Given the description of an element on the screen output the (x, y) to click on. 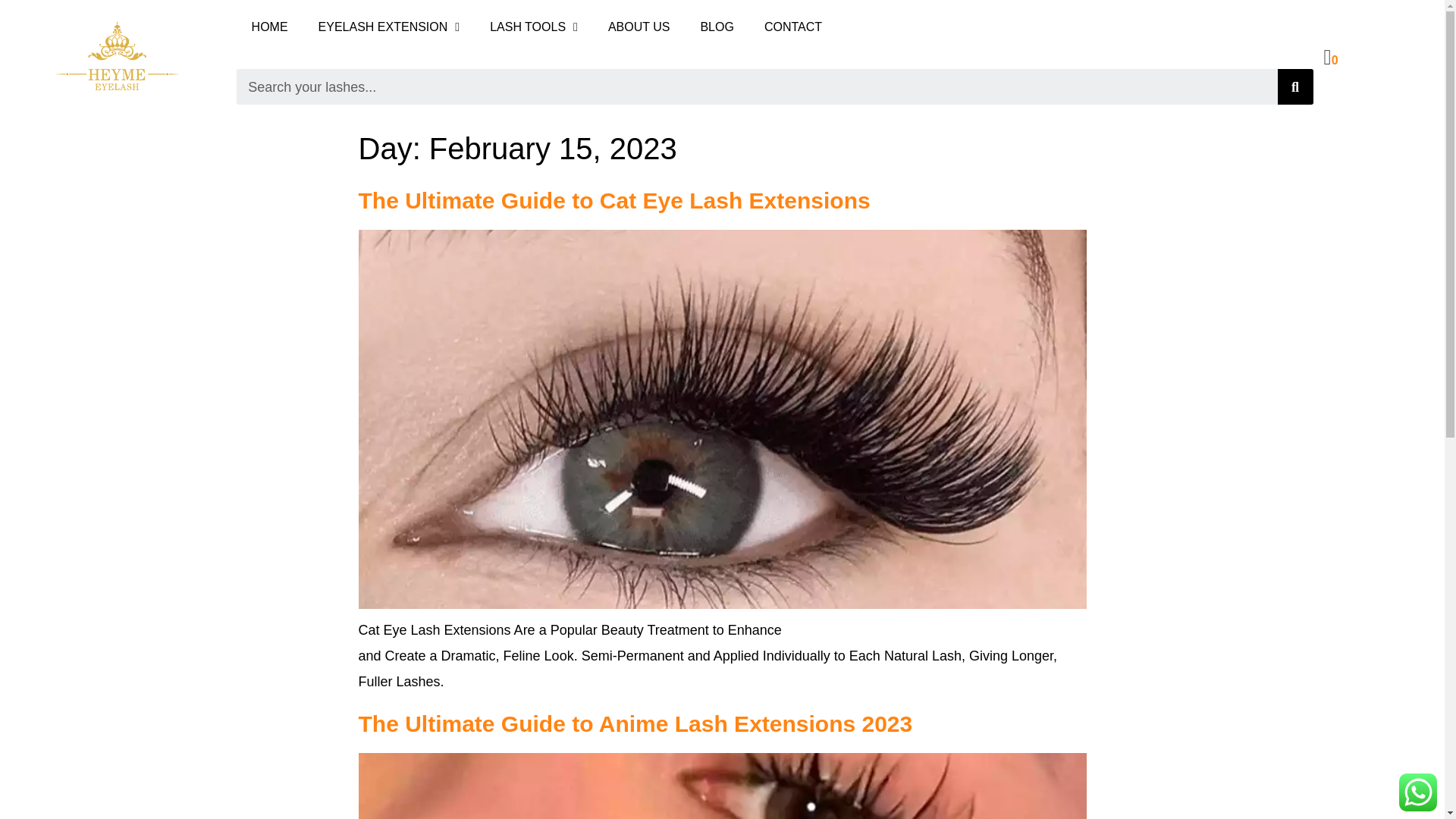
The Ultimate Guide to Cat Eye Lash Extensions (613, 200)
CONTACT (793, 26)
Search (1295, 86)
EYELASH EXTENSION (389, 26)
LASH TOOLS (533, 26)
WhatsApp us (1418, 792)
ABOUT US (638, 26)
Search (756, 86)
BLOG (716, 26)
0 (1330, 59)
